Given the description of an element on the screen output the (x, y) to click on. 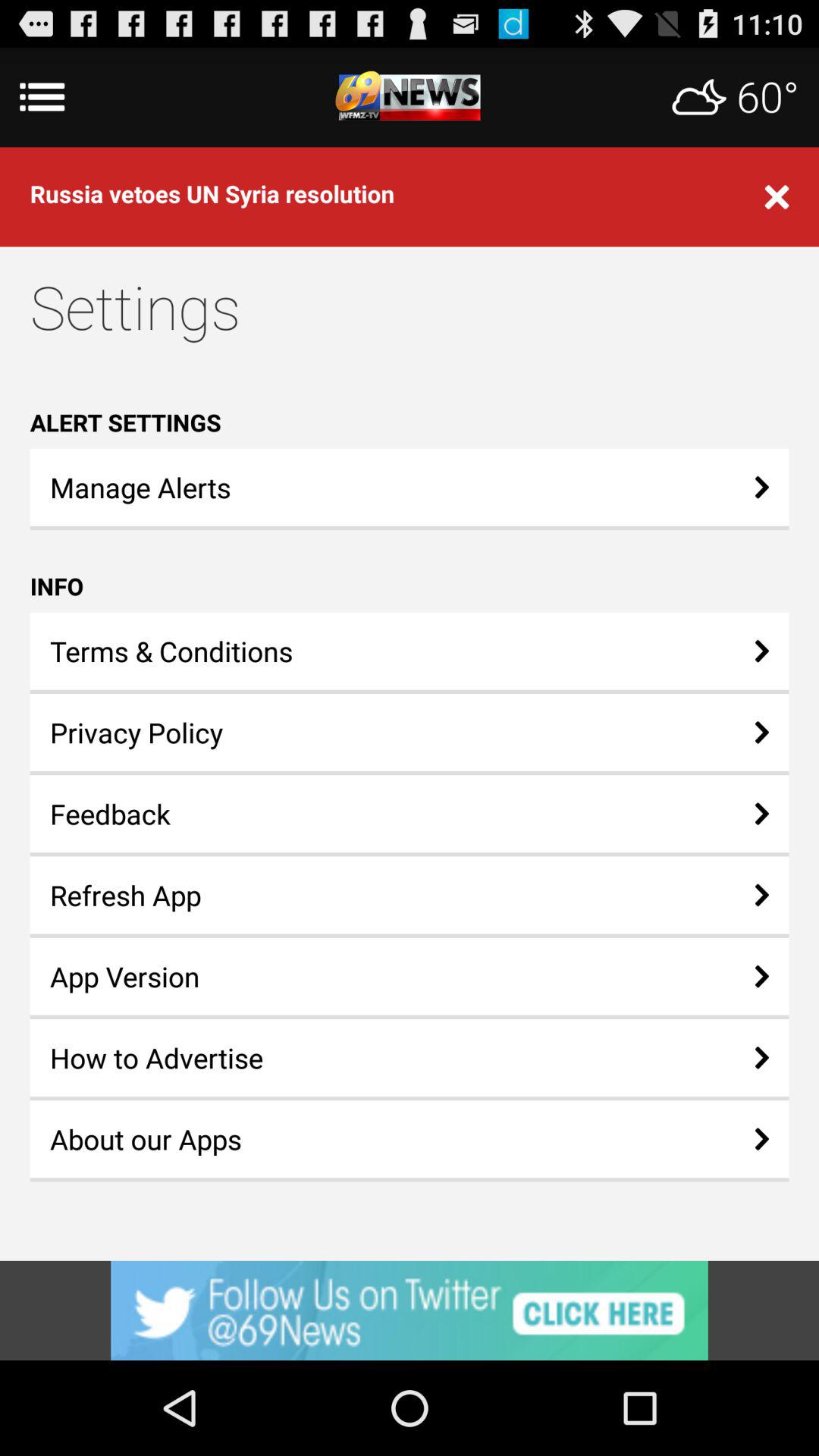
open settings (409, 97)
